Given the description of an element on the screen output the (x, y) to click on. 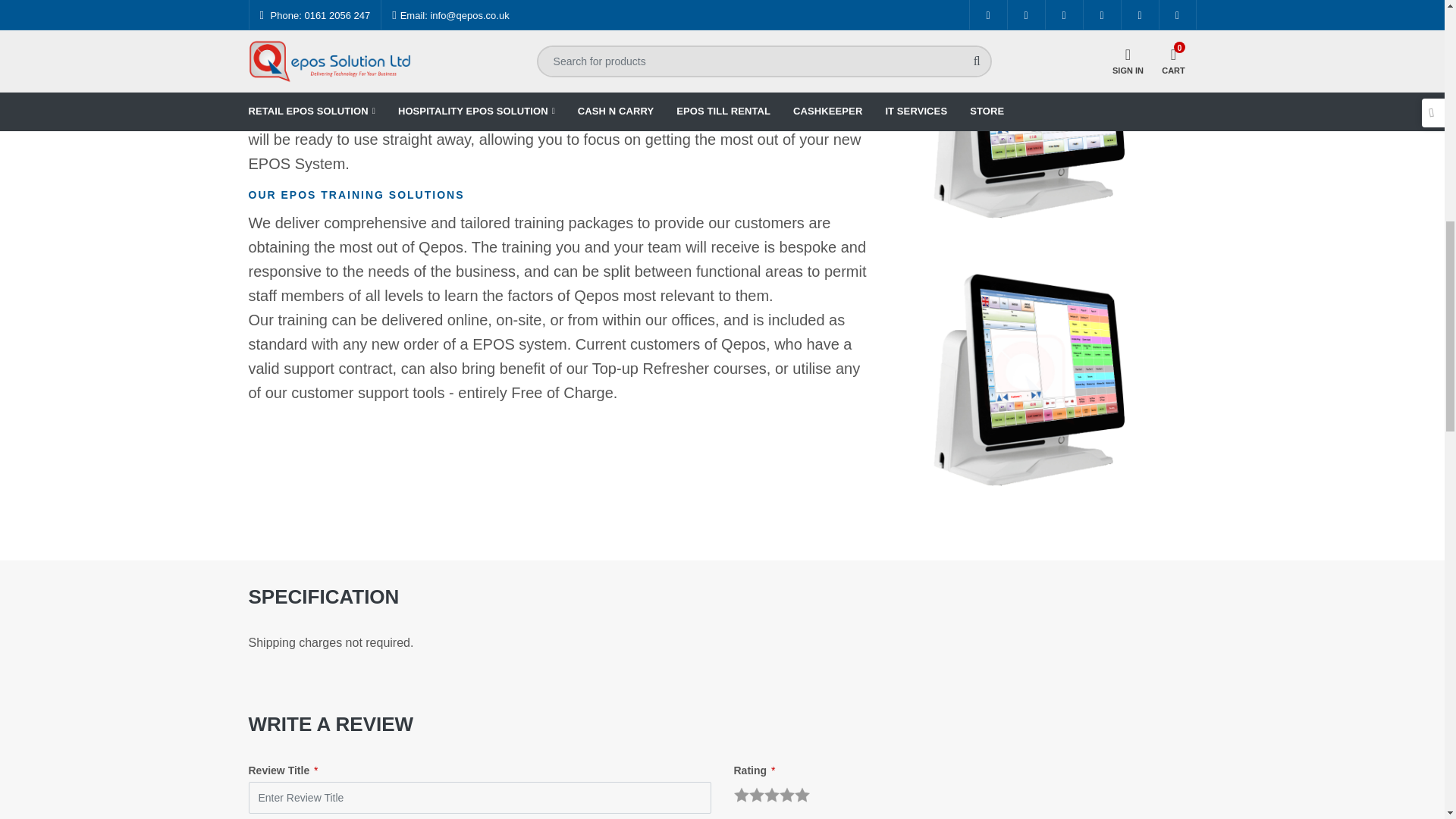
Not good (756, 794)
Average (771, 794)
Amazing (801, 794)
Very good (786, 794)
Terrible (741, 794)
